Given the description of an element on the screen output the (x, y) to click on. 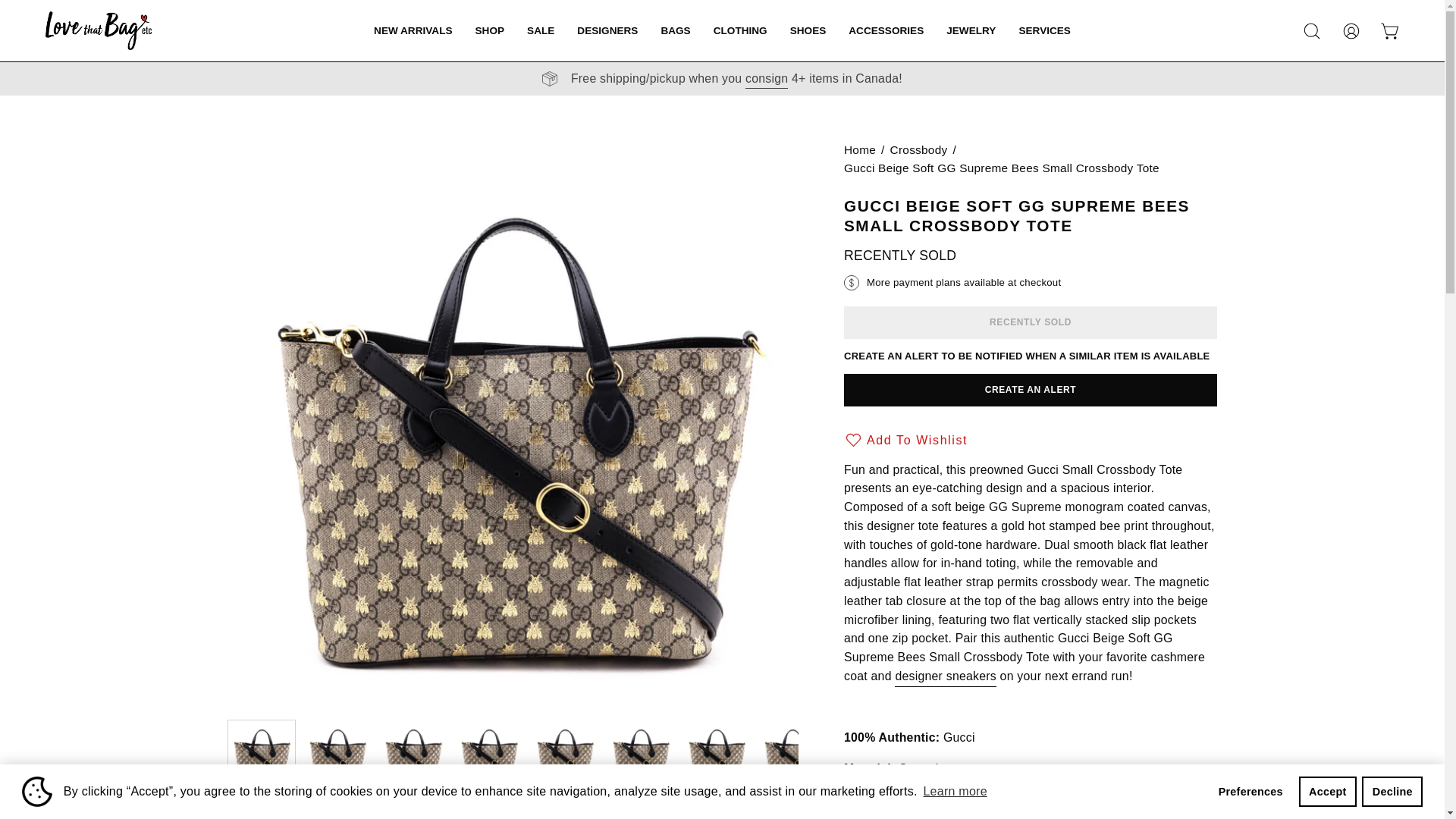
Go back to Home page (860, 149)
Open search bar (1311, 30)
Decline (1391, 791)
Preferences (1250, 791)
Learn about luxury consignment in Canada (766, 78)
Learn more (955, 791)
Accept (1327, 791)
